Given the description of an element on the screen output the (x, y) to click on. 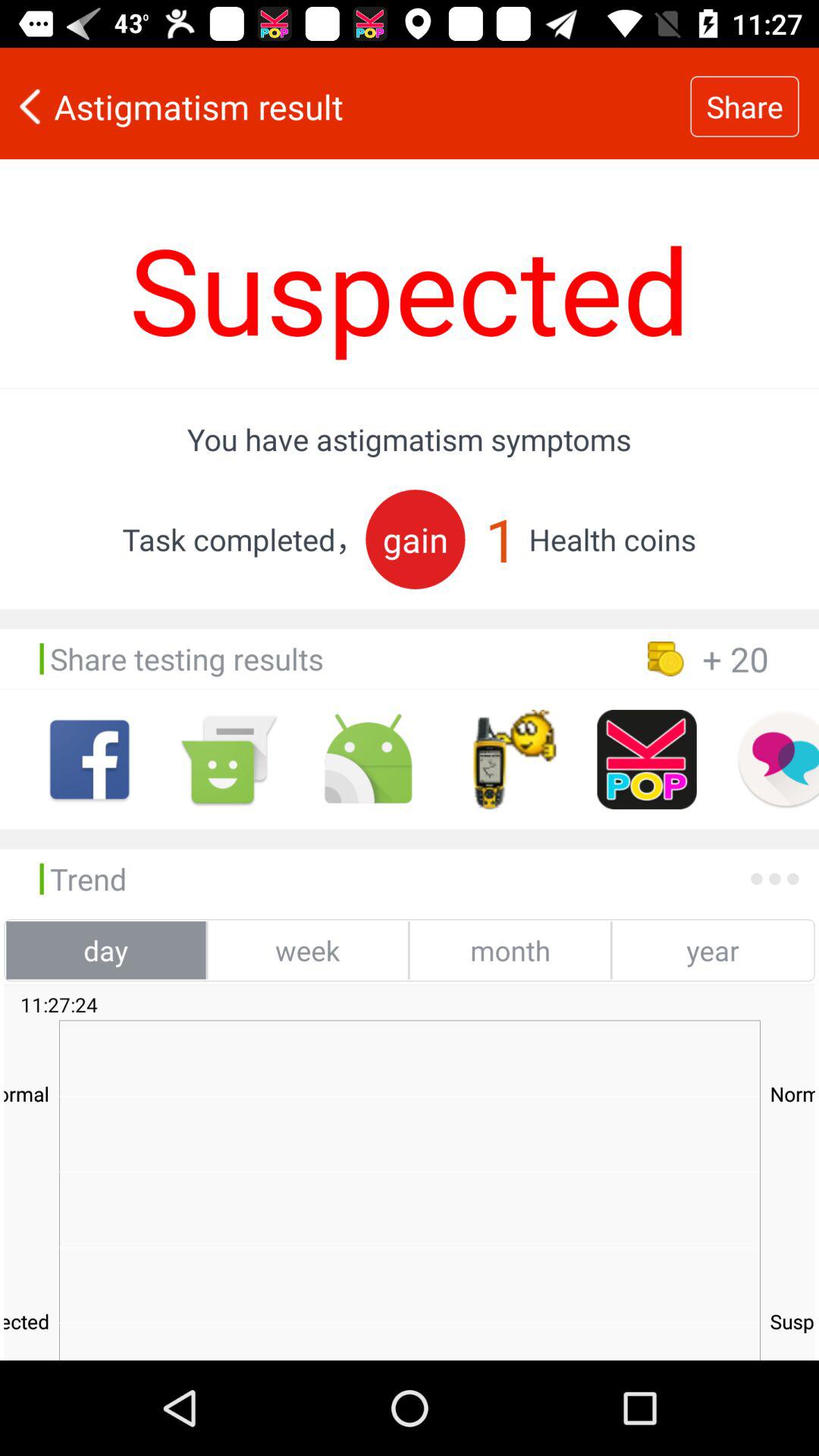
scroll to the astigmatism result (345, 106)
